Given the description of an element on the screen output the (x, y) to click on. 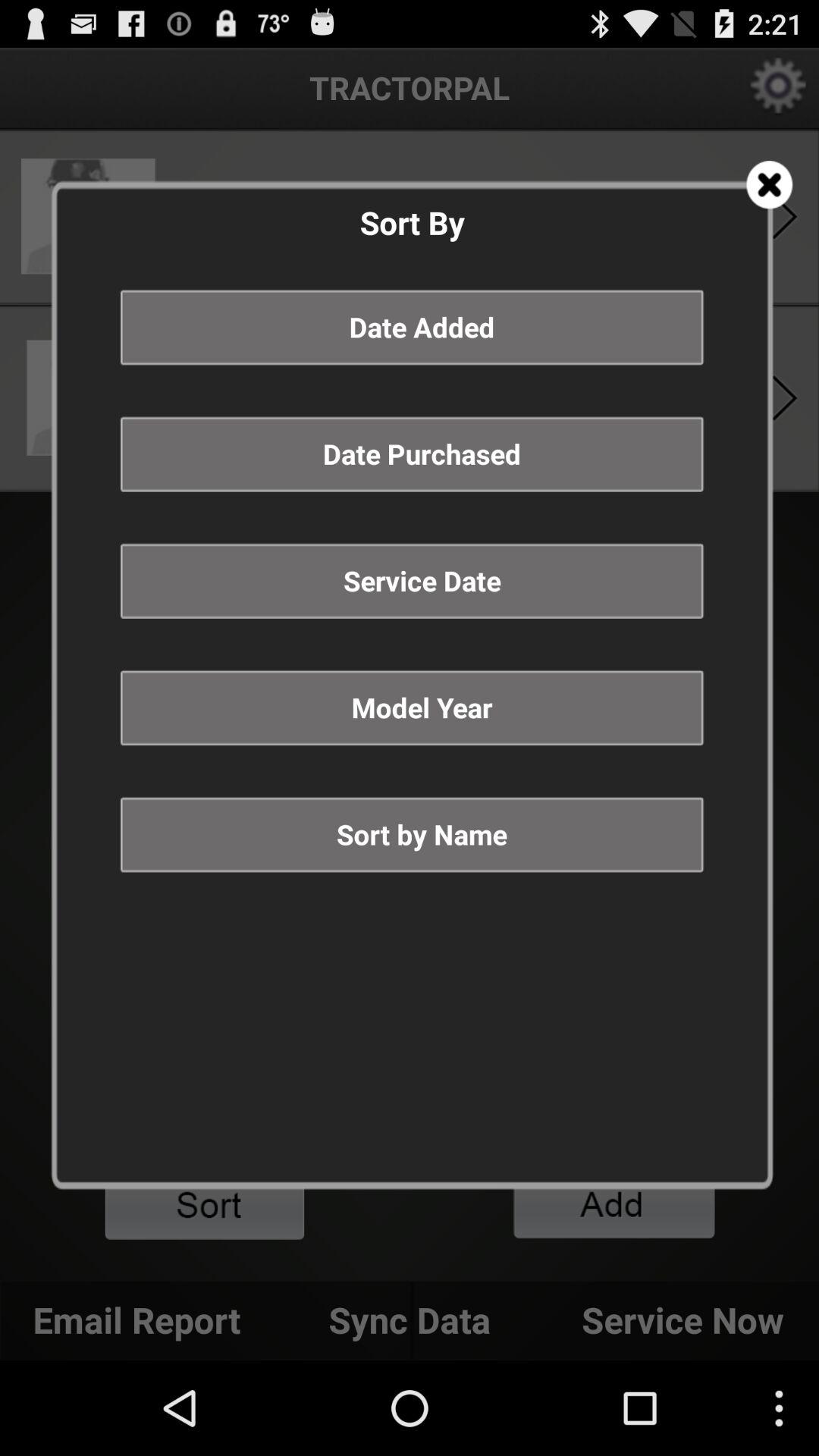
select icon at the top right corner (769, 184)
